Given the description of an element on the screen output the (x, y) to click on. 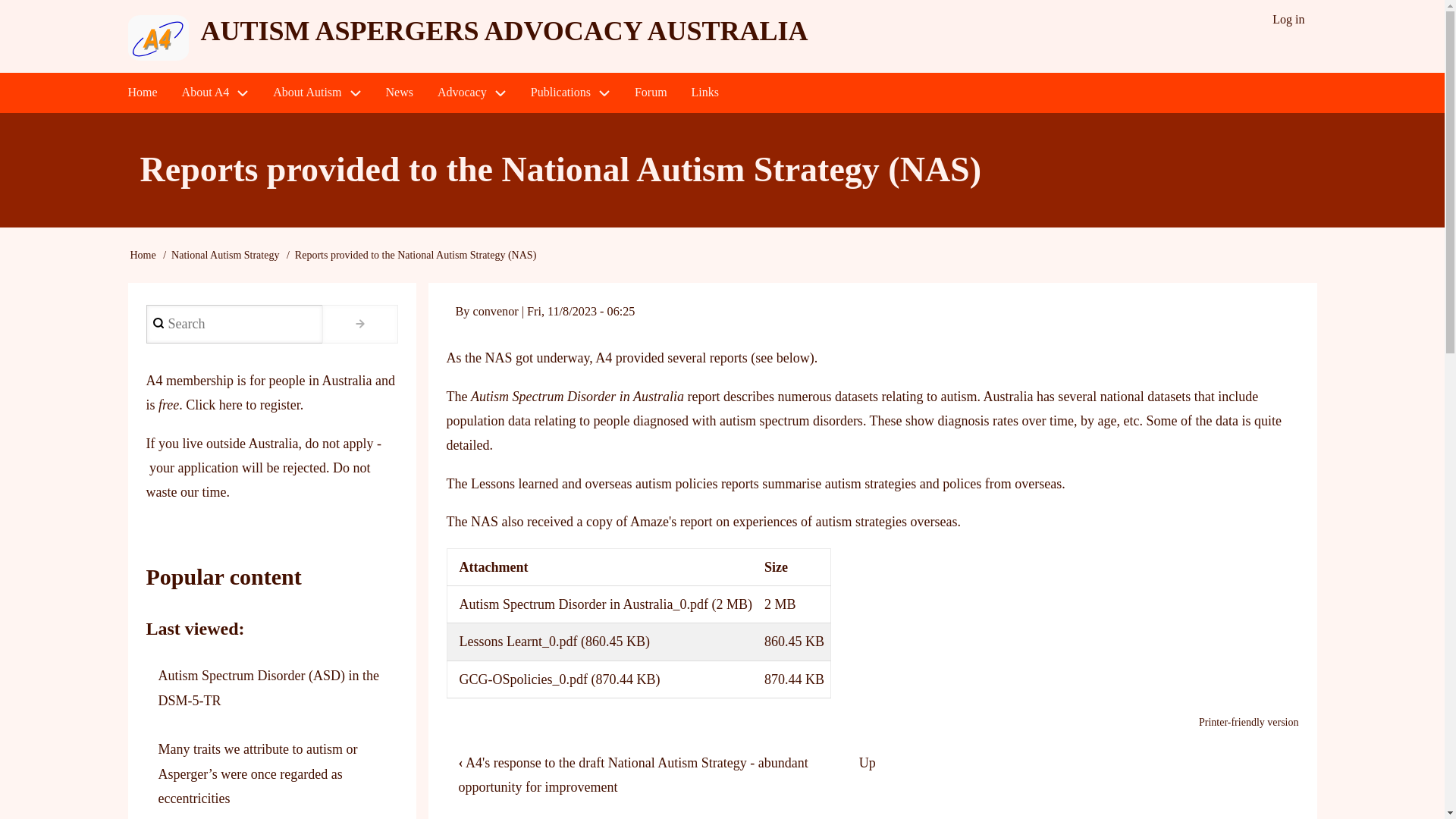
. (359, 323)
. (359, 323)
Log in (1288, 20)
About Autism (316, 92)
AUTISM ASPERGERS ADVOCACY AUSTRALIA (504, 30)
Home (141, 92)
Home (143, 255)
Home (504, 30)
News (399, 92)
Enter the terms you wish to search for. (233, 323)
Links (704, 92)
Click here to register (242, 404)
Advocacy (471, 92)
Forum (651, 92)
A list of news items (399, 92)
